Given the description of an element on the screen output the (x, y) to click on. 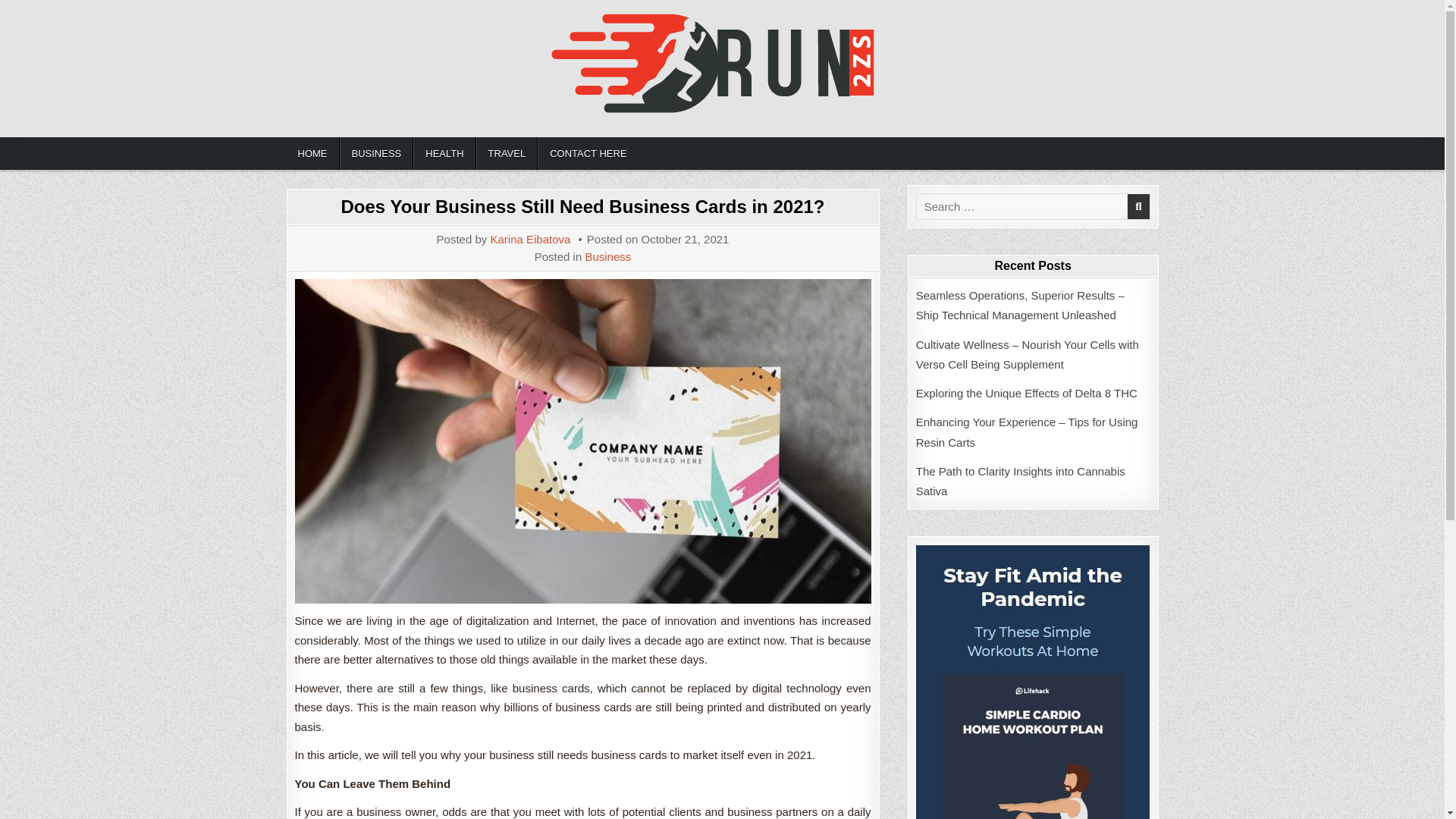
HOME (312, 153)
CONTACT HERE (587, 153)
Does Your Business Still Need Business Cards in 2021? (582, 206)
Business (607, 256)
Karina Eibatova (529, 238)
The Path to Clarity Insights into Cannabis Sativa (1020, 481)
Run 2zs (321, 134)
BUSINESS (376, 153)
HEALTH (444, 153)
Exploring the Unique Effects of Delta 8 THC (1026, 392)
TRAVEL (507, 153)
